Given the description of an element on the screen output the (x, y) to click on. 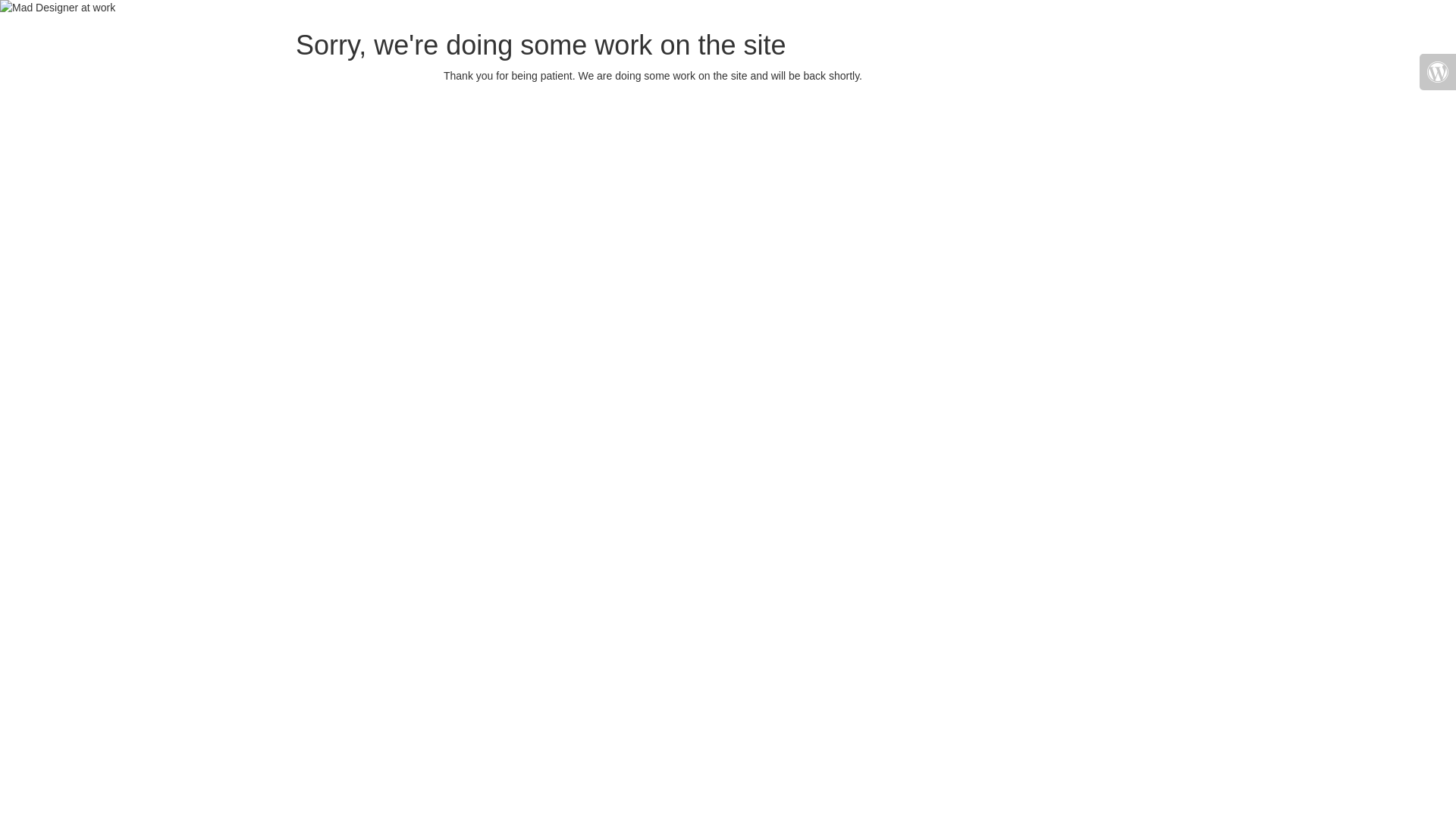
Mad Designer at work Element type: hover (57, 7)
